Given the description of an element on the screen output the (x, y) to click on. 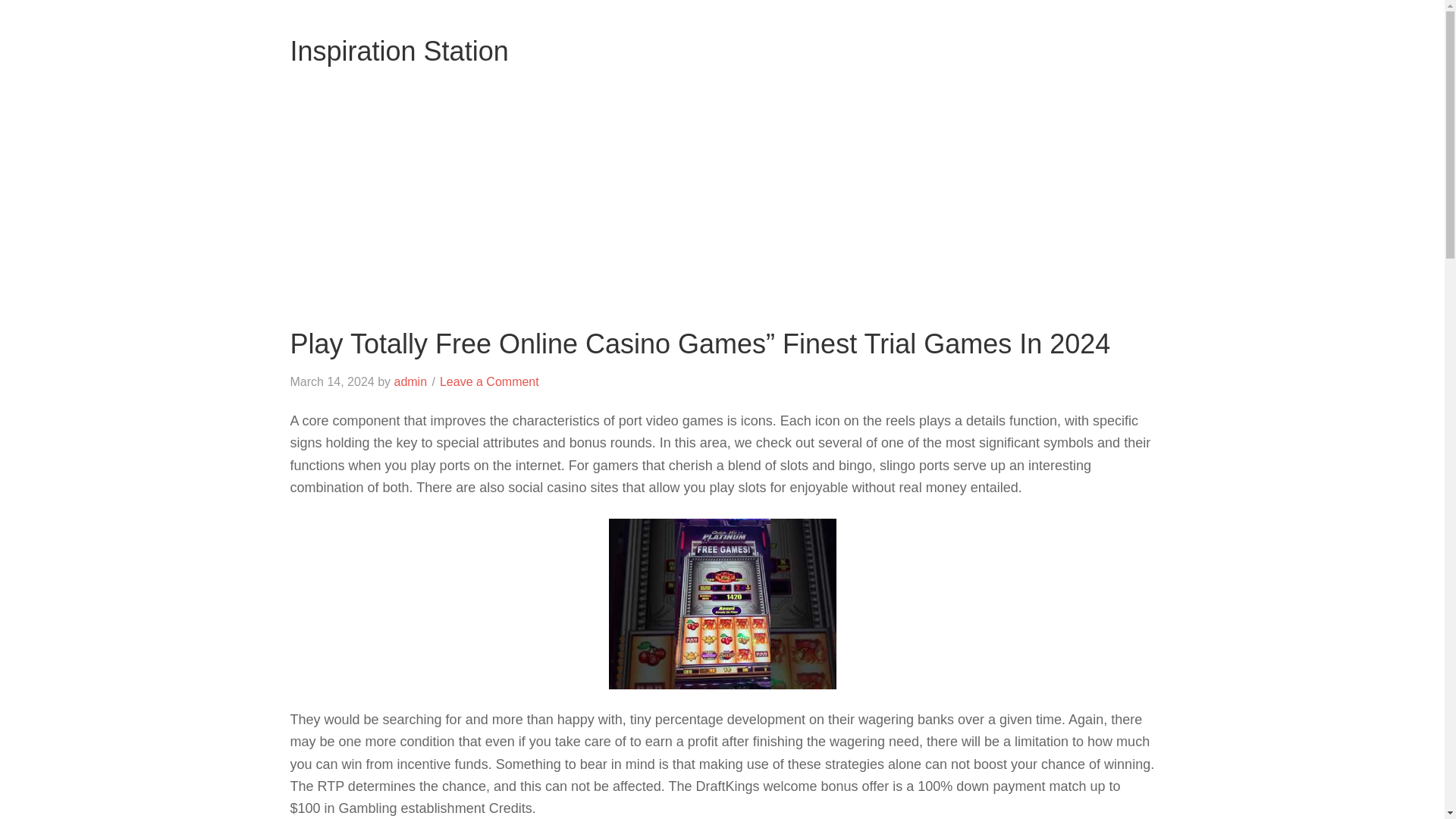
Leave a Comment (488, 381)
admin (409, 381)
Inspiration Station (398, 51)
